Given the description of an element on the screen output the (x, y) to click on. 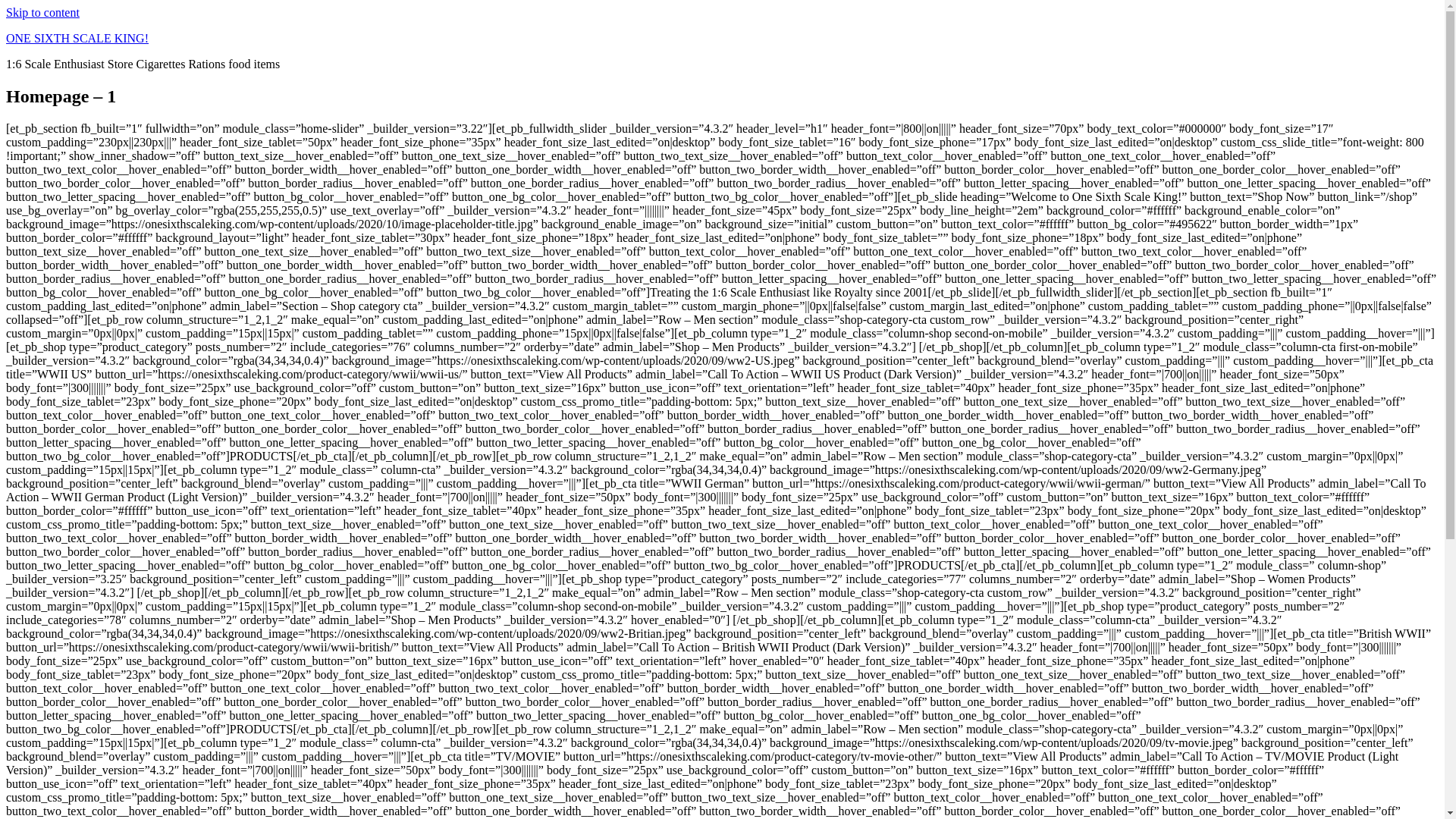
ONE SIXTH SCALE KING! (76, 38)
Skip to content (42, 11)
